Given the description of an element on the screen output the (x, y) to click on. 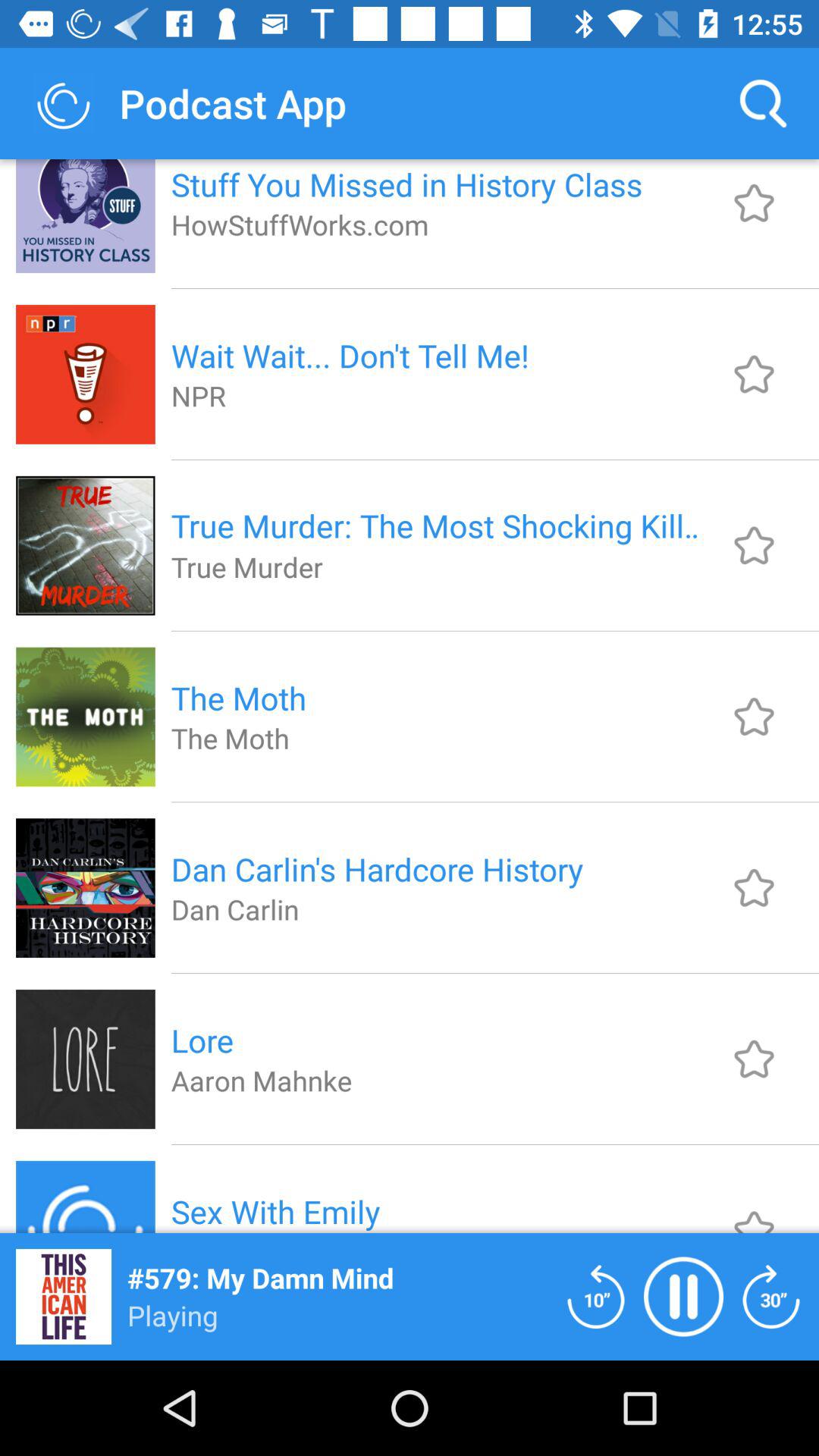
add to favorites (754, 545)
